Given the description of an element on the screen output the (x, y) to click on. 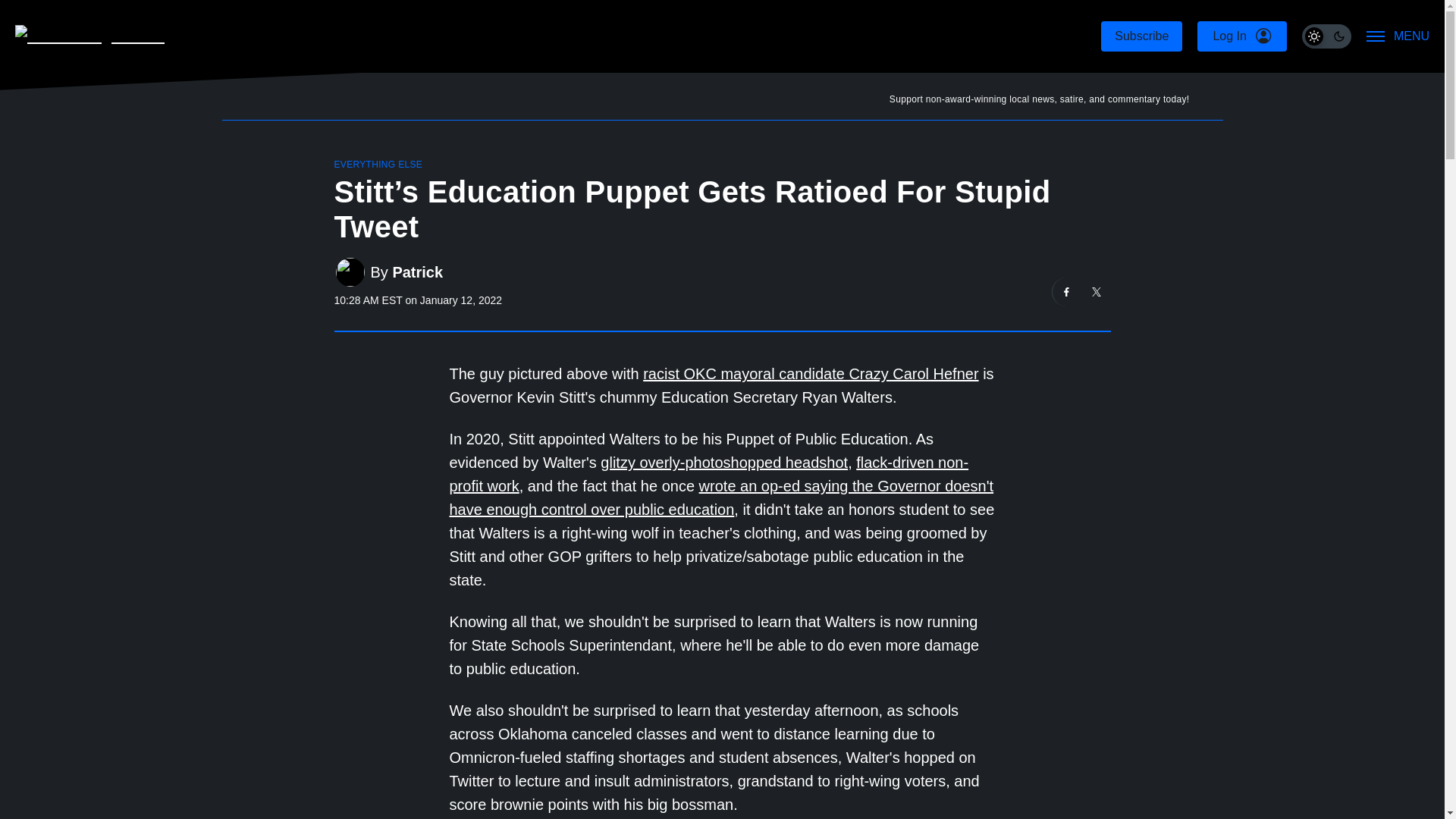
Log In (1240, 36)
EVERYTHING ELSE (377, 163)
Share on Facebook (1066, 291)
Patrick (416, 272)
flack-driven non-profit work (708, 474)
glitzy overly-photoshopped headshot (723, 462)
racist OKC mayoral candidate Crazy Carol Hefner (810, 373)
Subscribe (1141, 36)
MENU (1398, 36)
